Given the description of an element on the screen output the (x, y) to click on. 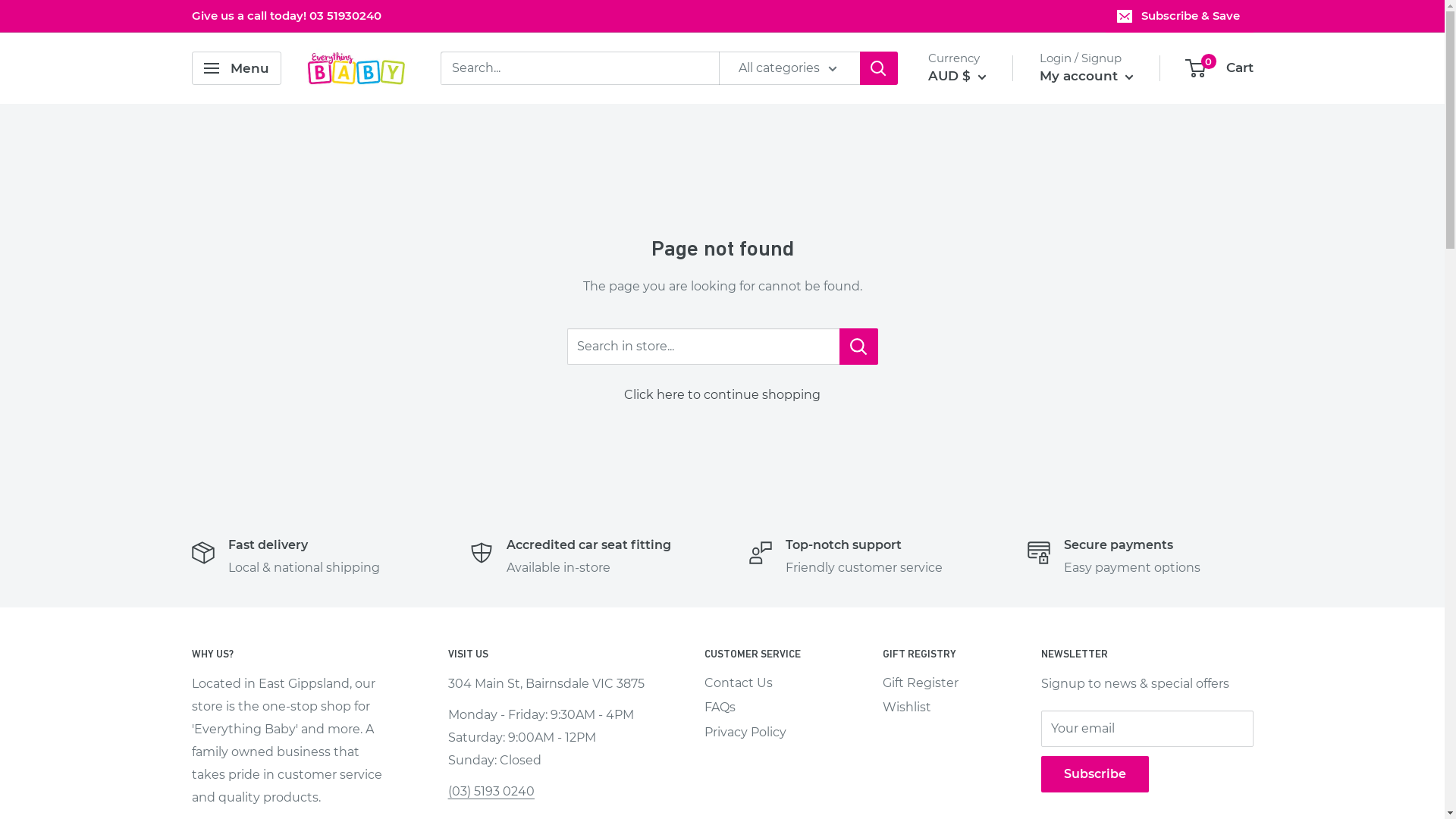
AED Element type: text (980, 253)
ALL Element type: text (980, 300)
CVE Element type: text (980, 786)
CNY Element type: text (980, 740)
BZD Element type: text (980, 647)
CUSTOMER SERVICE Element type: text (766, 654)
Everything Baby Element type: text (356, 67)
AFN Element type: text (980, 276)
0
Cart Element type: text (1219, 68)
BND Element type: text (980, 554)
Contact Us Element type: text (766, 683)
CHF Element type: text (980, 716)
VISIT US Element type: text (549, 654)
CAD Element type: text (980, 670)
BGN Element type: text (980, 508)
Menu Element type: text (235, 67)
AWG Element type: text (980, 392)
Gift Register Element type: text (934, 683)
ANG Element type: text (980, 346)
BAM Element type: text (980, 438)
BDT Element type: text (980, 485)
Wishlist Element type: text (934, 707)
(03) 5193 0240 Element type: text (491, 791)
BIF Element type: text (980, 531)
CDF Element type: text (980, 693)
Subscribe & Save Element type: text (1179, 15)
BWP Element type: text (980, 624)
AMD Element type: text (980, 323)
BBD Element type: text (980, 462)
CRC Element type: text (980, 762)
BOB Element type: text (980, 577)
GIFT REGISTRY Element type: text (934, 654)
Privacy Policy Element type: text (766, 732)
FAQs Element type: text (766, 707)
Subscribe Element type: text (1094, 774)
AUD Element type: text (980, 369)
Click here to continue shopping Element type: text (722, 394)
AZN Element type: text (980, 416)
BSD Element type: text (980, 601)
WHY US? Element type: text (292, 654)
AUD $ Element type: text (957, 76)
My account Element type: text (1085, 76)
